Given the description of an element on the screen output the (x, y) to click on. 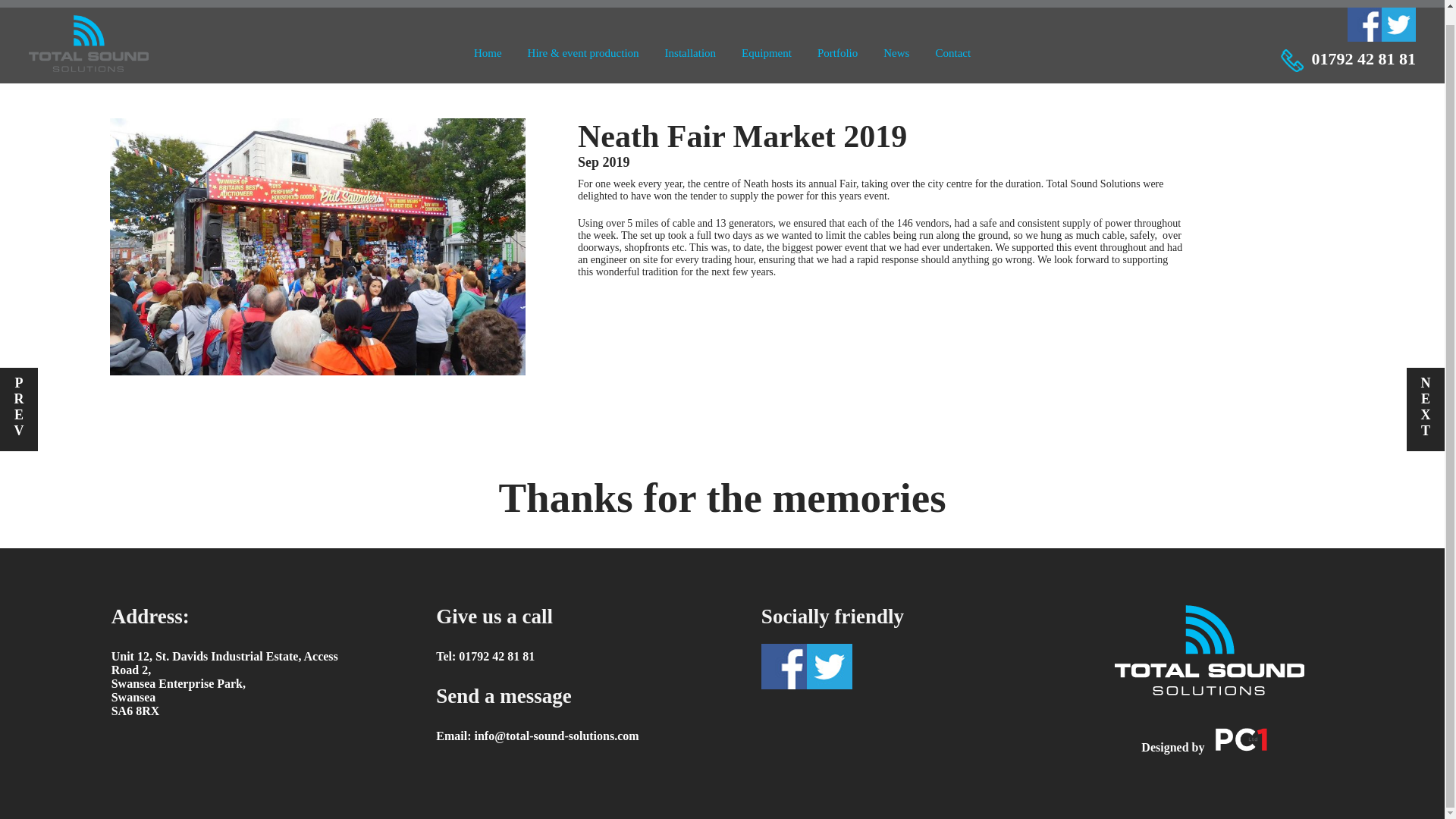
Portfolio (836, 38)
Contact (952, 38)
News (895, 38)
Equipment (766, 38)
Home (488, 38)
Installation (690, 38)
